Given the description of an element on the screen output the (x, y) to click on. 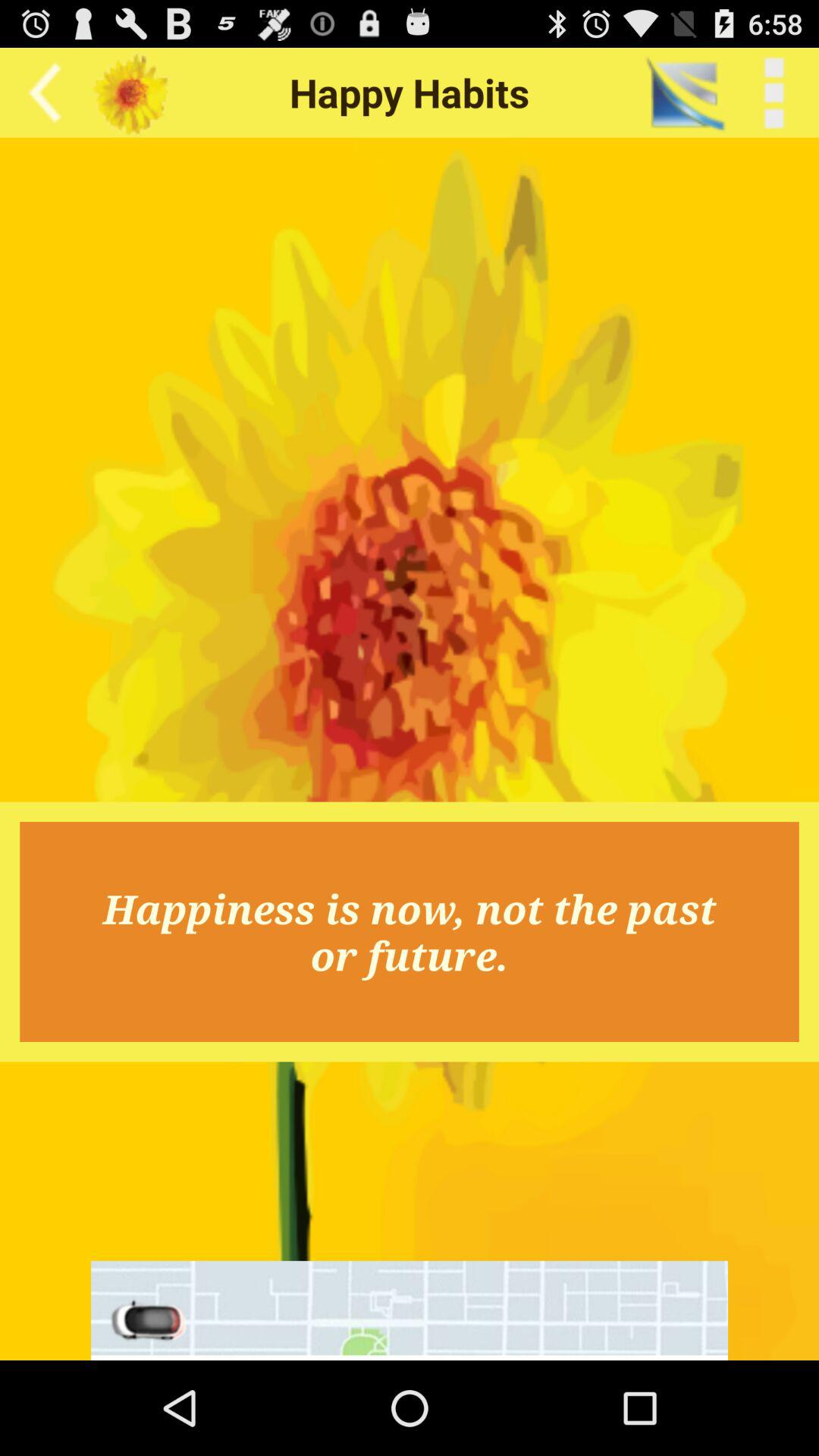
open map (409, 1310)
